Given the description of an element on the screen output the (x, y) to click on. 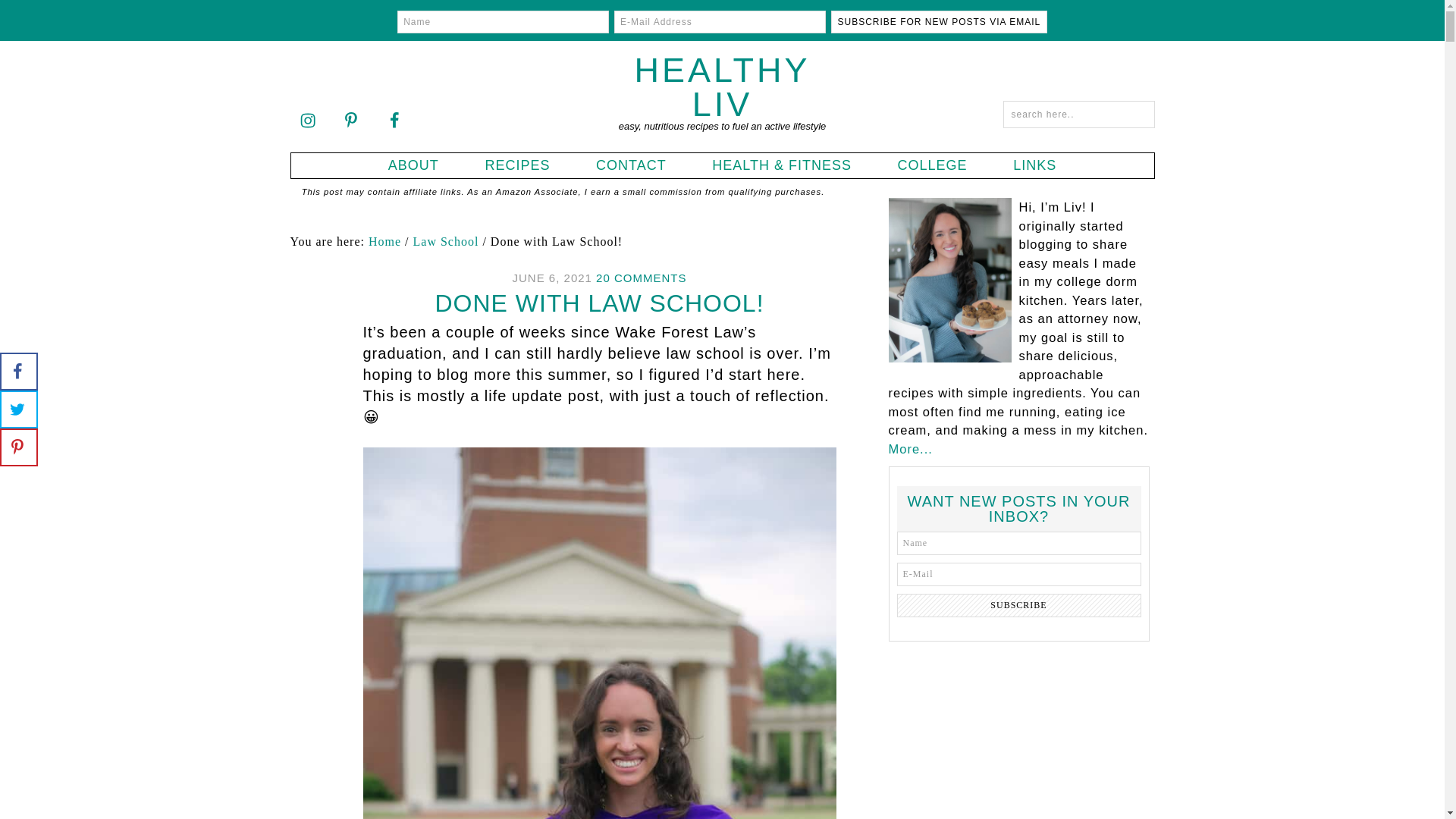
Home (384, 241)
Follow on Facebook (394, 119)
ABOUT (414, 165)
20 COMMENTS (640, 277)
LINKS (1034, 165)
Share on Twitter (18, 409)
Follow on Instagram (306, 119)
Share on Facebook (18, 371)
RECIPES (517, 165)
CONTACT (631, 165)
Follow on Pinterest (350, 119)
Subscribe (1018, 605)
COLLEGE (932, 165)
Subscribe for new posts via email (938, 21)
